Given the description of an element on the screen output the (x, y) to click on. 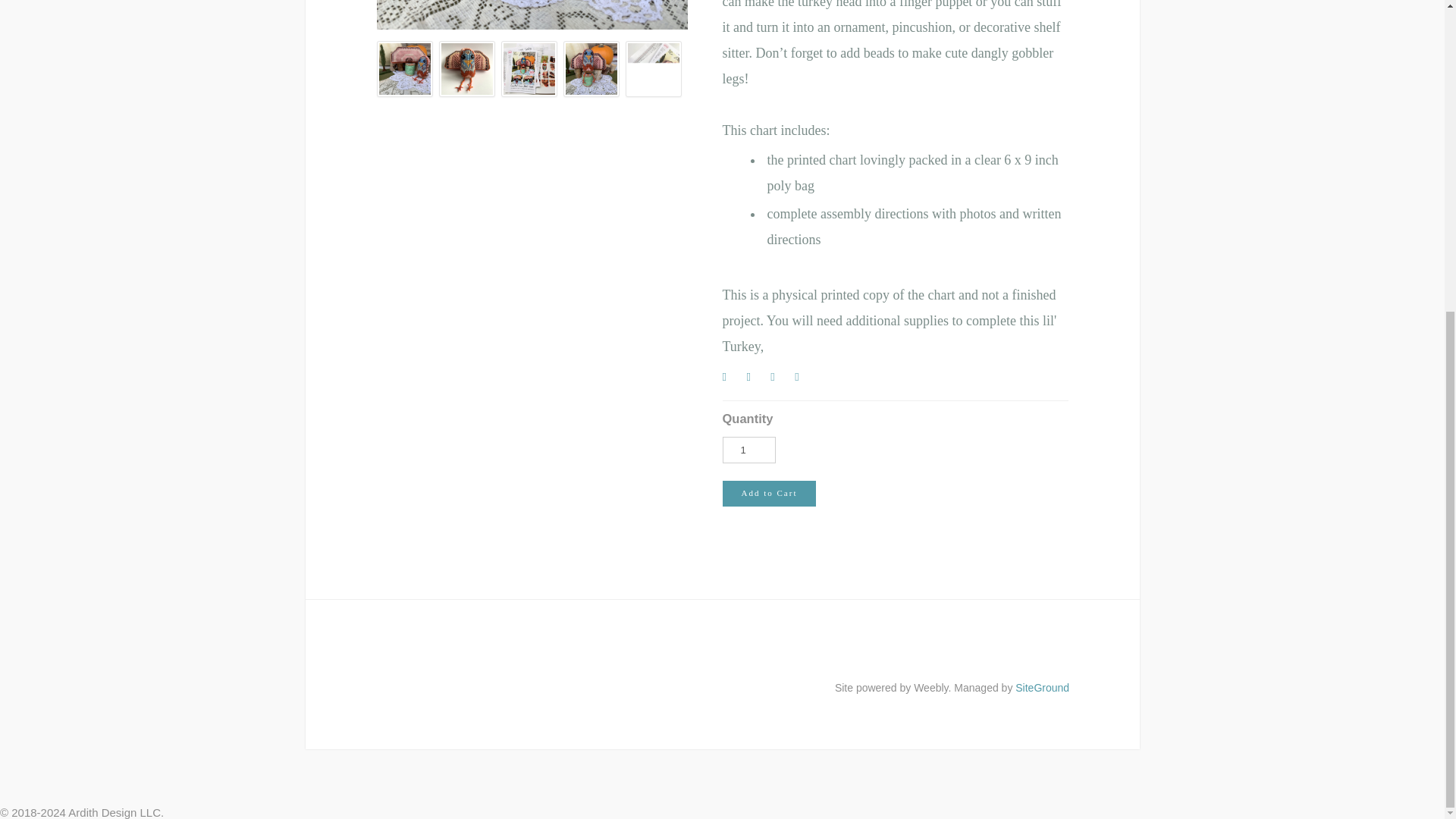
Share on Facebook (730, 380)
1 (748, 449)
SiteGround (1041, 687)
Add to Cart (768, 493)
Pinterest (779, 380)
Share on Pinterest (779, 380)
Twitter (754, 380)
Share on Twitter (754, 380)
Facebook (730, 380)
